Given the description of an element on the screen output the (x, y) to click on. 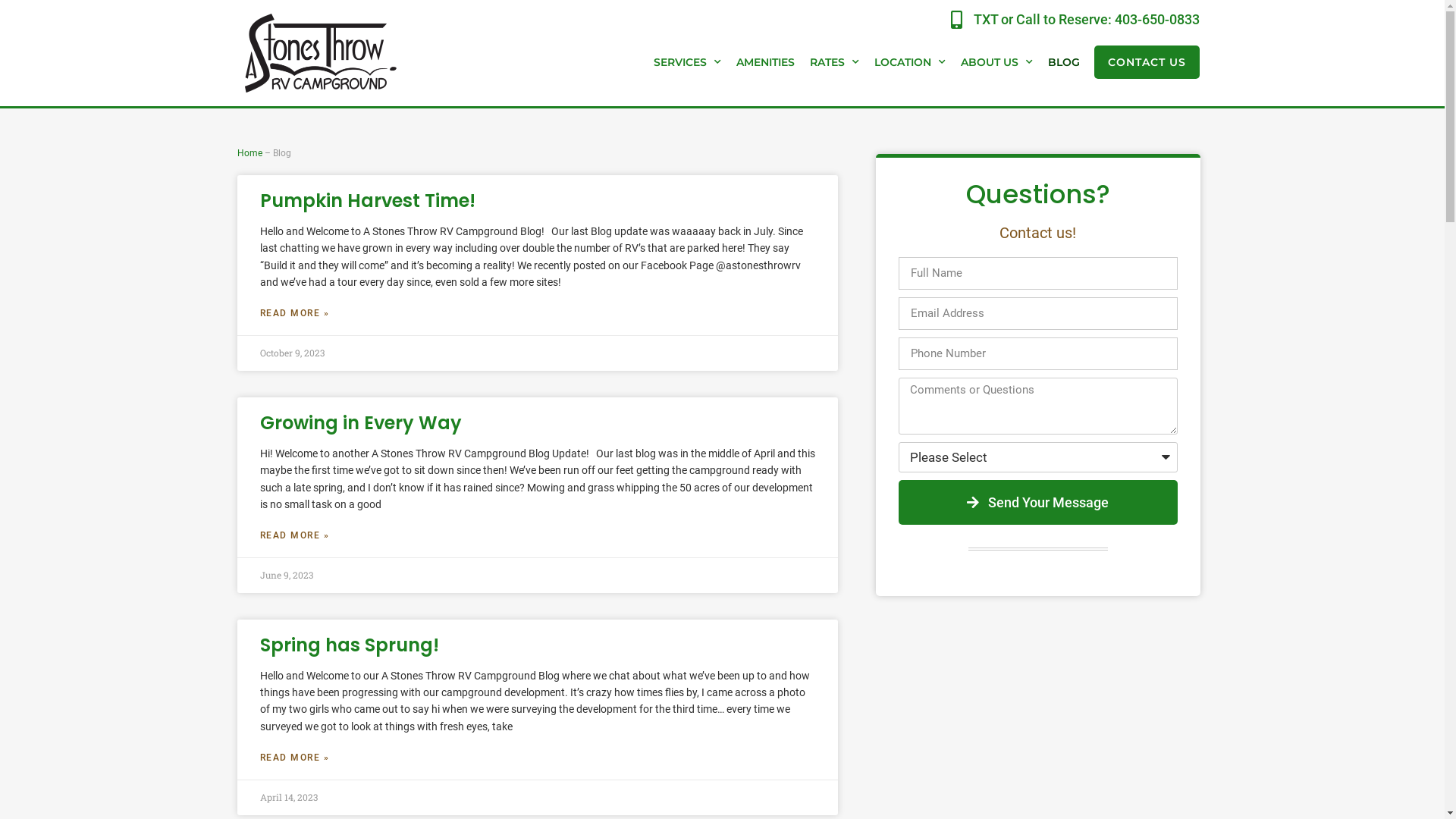
LOCATION Element type: text (909, 61)
RATES Element type: text (834, 61)
CONTACT US Element type: text (1146, 61)
Home Element type: text (248, 152)
SERVICES Element type: text (687, 61)
AMENITIES Element type: text (765, 61)
Pumpkin Harvest Time! Element type: text (366, 200)
ABOUT US Element type: text (996, 61)
Send Your Message Element type: text (1036, 502)
TXT or Call to Reserve: 403-650-0833 Element type: text (1069, 19)
BLOG Element type: text (1063, 61)
Spring has Sprung! Element type: text (348, 644)
Growing in Every Way Element type: text (360, 422)
